Given the description of an element on the screen output the (x, y) to click on. 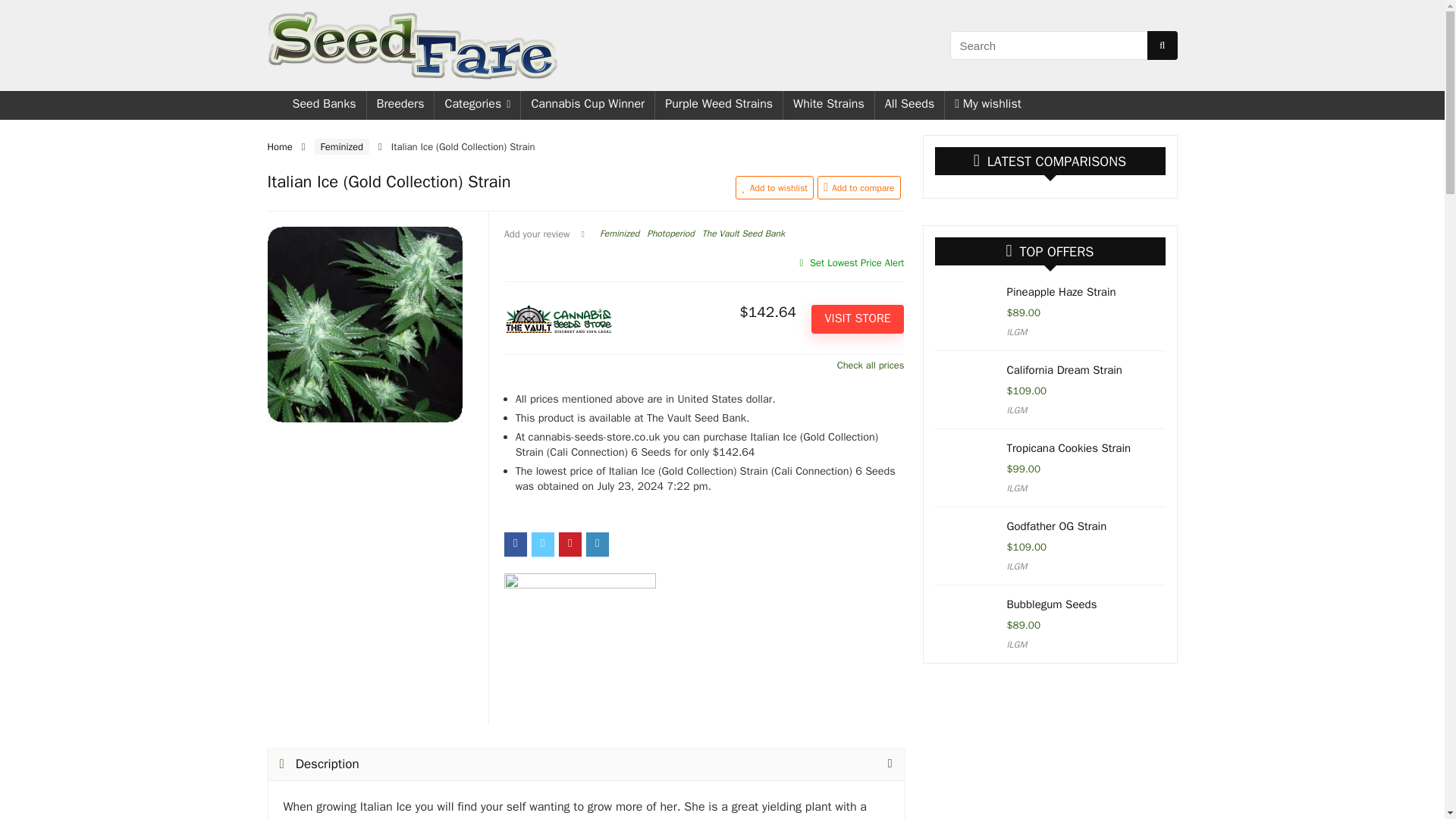
Cannabis Cup Winner (587, 104)
Add your review (536, 234)
VISIT STORE (857, 318)
All Seeds (909, 104)
Feminized (341, 146)
View all posts in Feminized (619, 233)
Seed Banks (323, 104)
Breeders (399, 104)
View all posts in Photoperiod (670, 233)
View all posts in The Vault Seed Bank (742, 233)
Photoperiod (670, 233)
The Vault Seed Bank (742, 233)
Categories (476, 104)
Cali Connection (579, 648)
Purple Weed Strains (719, 104)
